Given the description of an element on the screen output the (x, y) to click on. 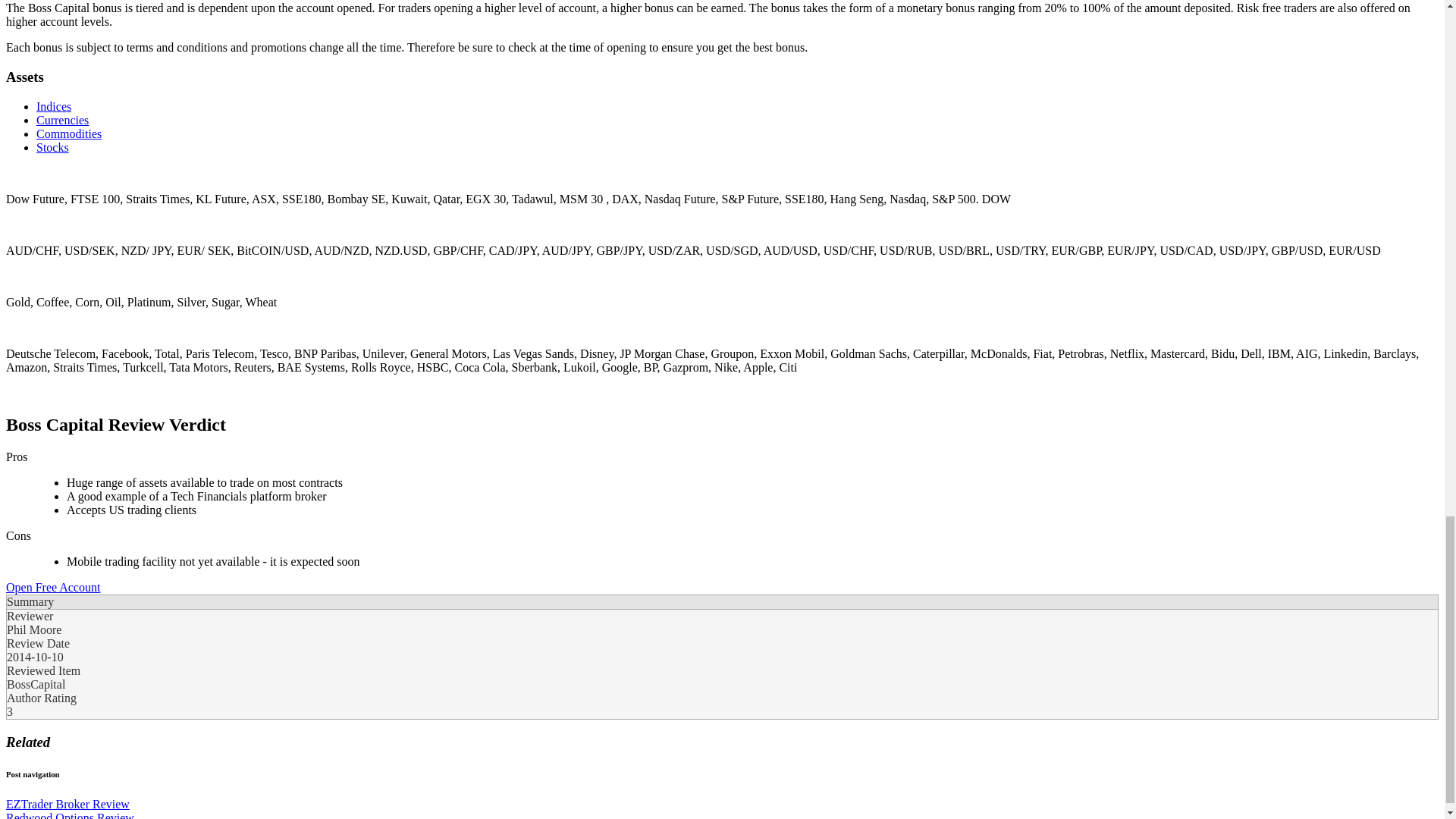
EZTrader Broker Review (67, 803)
Currencies (62, 119)
Previous (67, 803)
Open Free Account (52, 586)
Stocks (52, 146)
Commodities (68, 133)
Indices (53, 106)
